Given the description of an element on the screen output the (x, y) to click on. 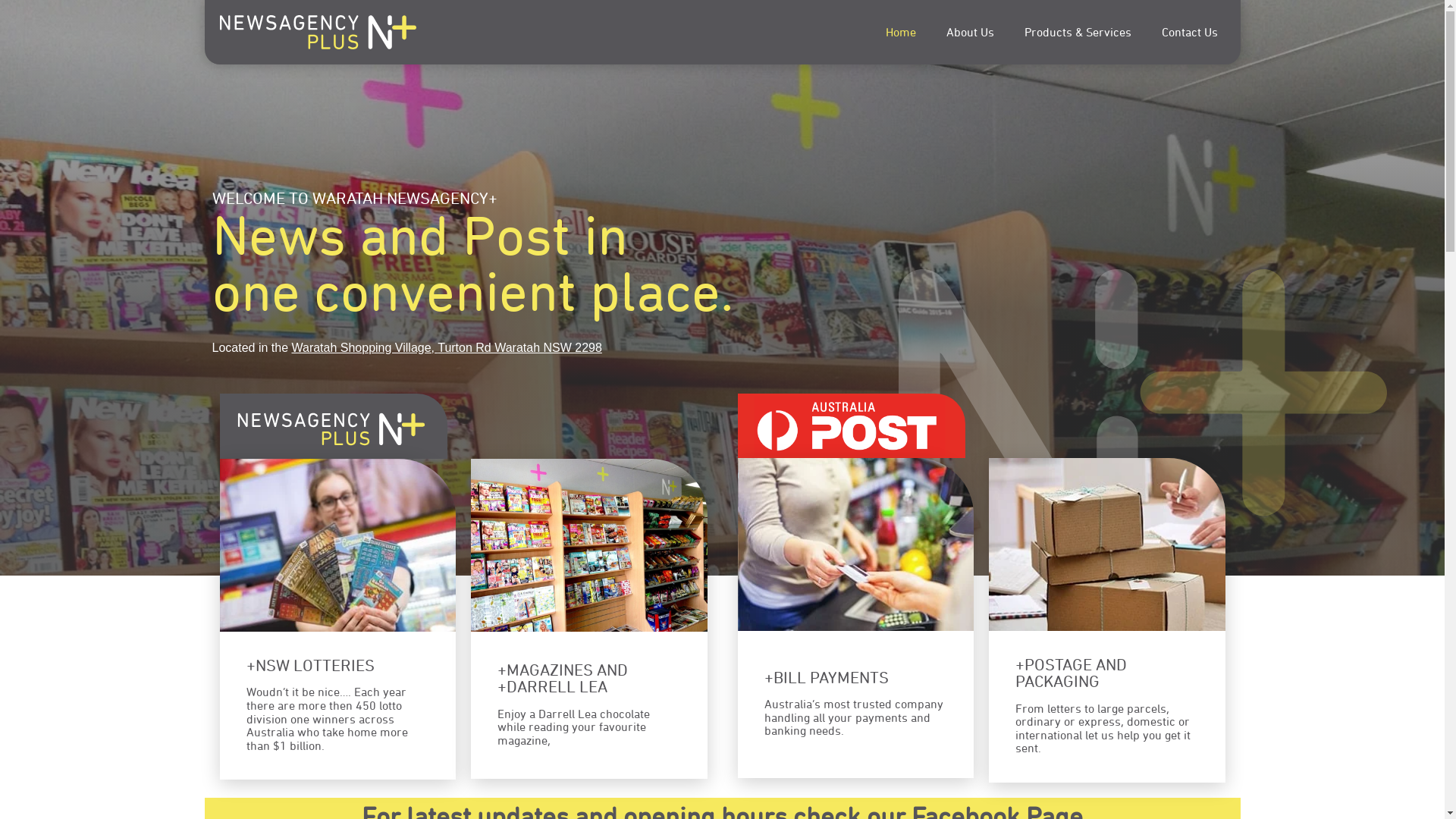
Waratah Newsagency Plus - Newsagency Element type: hover (850, 425)
Waratah Newsagency Plus - Newsagency Element type: hover (1141, 440)
Home Element type: text (900, 32)
About Us Element type: text (970, 32)
Waratah Shopping Village, Element type: text (364, 347)
Products & Services Element type: text (1076, 32)
Turton Rd Waratah NSW 2298 Element type: text (519, 347)
Contact Us Element type: text (1189, 32)
Waratah Newsagency Plus - Newsagency Element type: hover (333, 425)
